Given the description of an element on the screen output the (x, y) to click on. 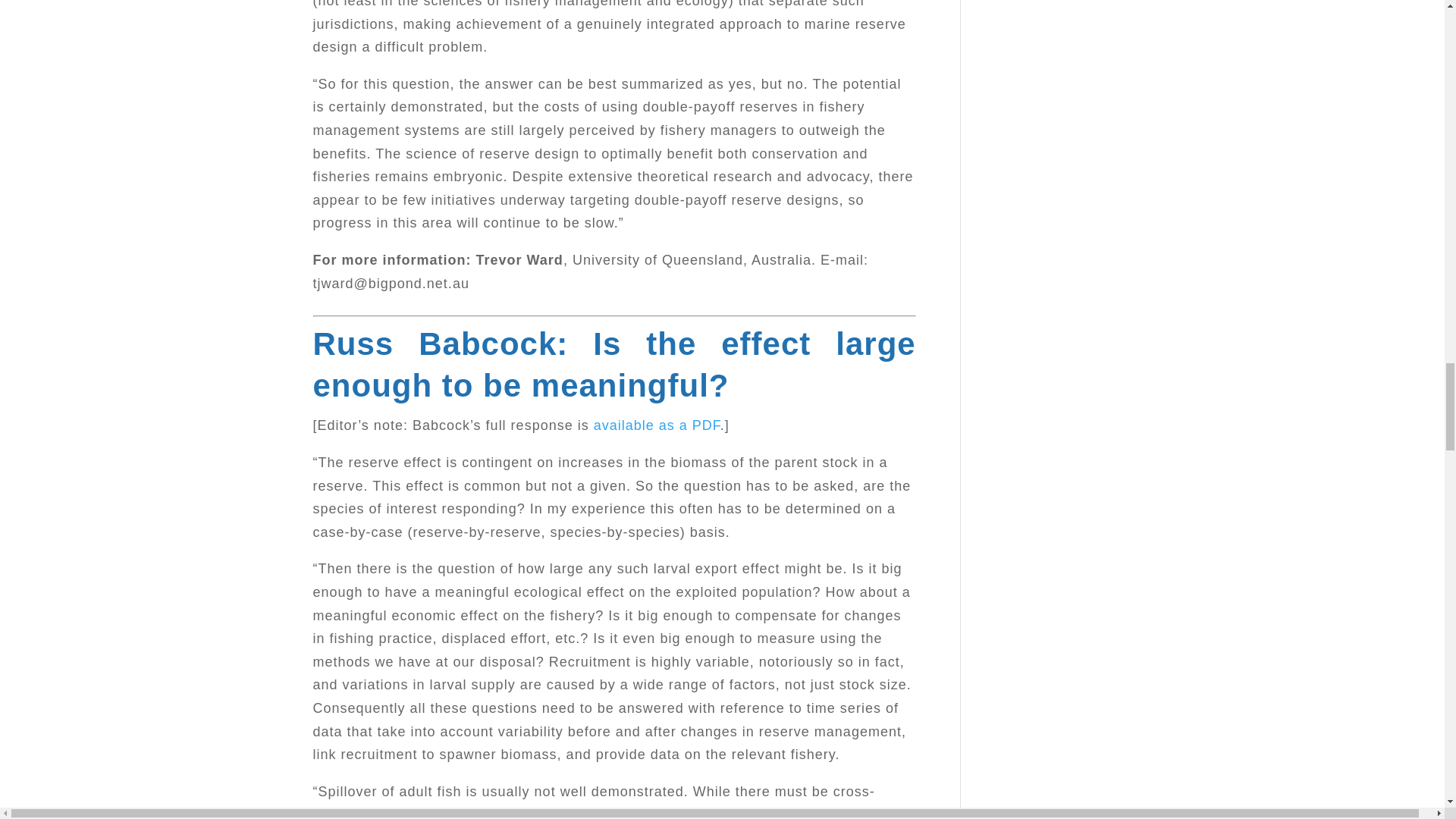
available as a PDF (657, 425)
